Given the description of an element on the screen output the (x, y) to click on. 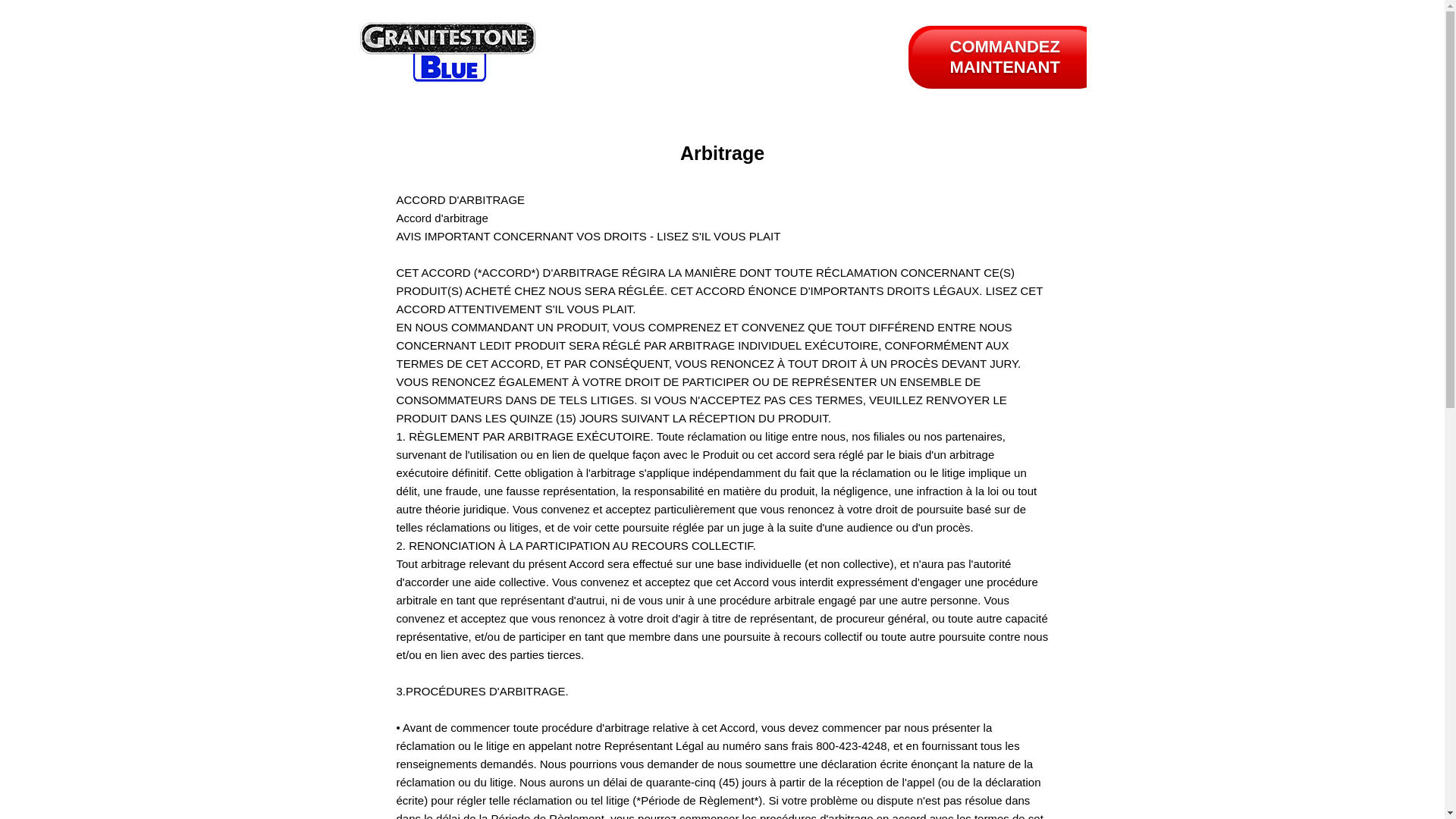
COMMANDEZ MAINTENANT Element type: text (1004, 56)
